Given the description of an element on the screen output the (x, y) to click on. 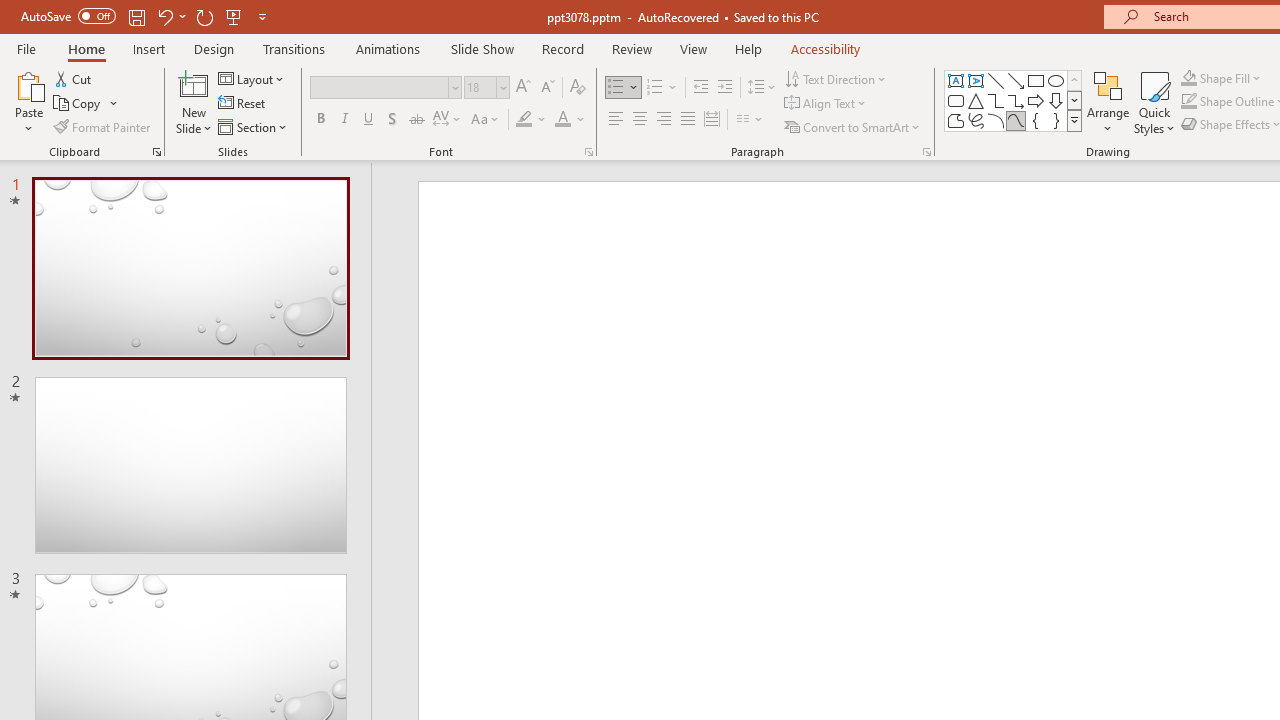
Right Brace (1055, 120)
Class: NetUIImage (1075, 120)
Row Down (1074, 100)
Paste (28, 84)
Text Highlight Color Yellow (524, 119)
Font (379, 87)
Text Highlight Color (531, 119)
Paragraph... (926, 151)
Font Size (486, 87)
Reset (243, 103)
Numbering (661, 87)
Clear Formatting (577, 87)
